Given the description of an element on the screen output the (x, y) to click on. 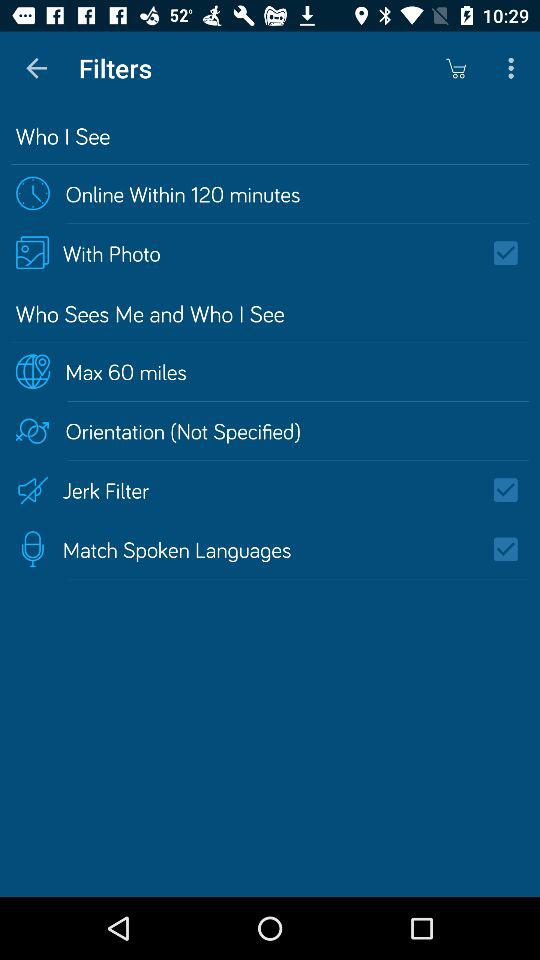
filter match spoken languages (512, 549)
